Given the description of an element on the screen output the (x, y) to click on. 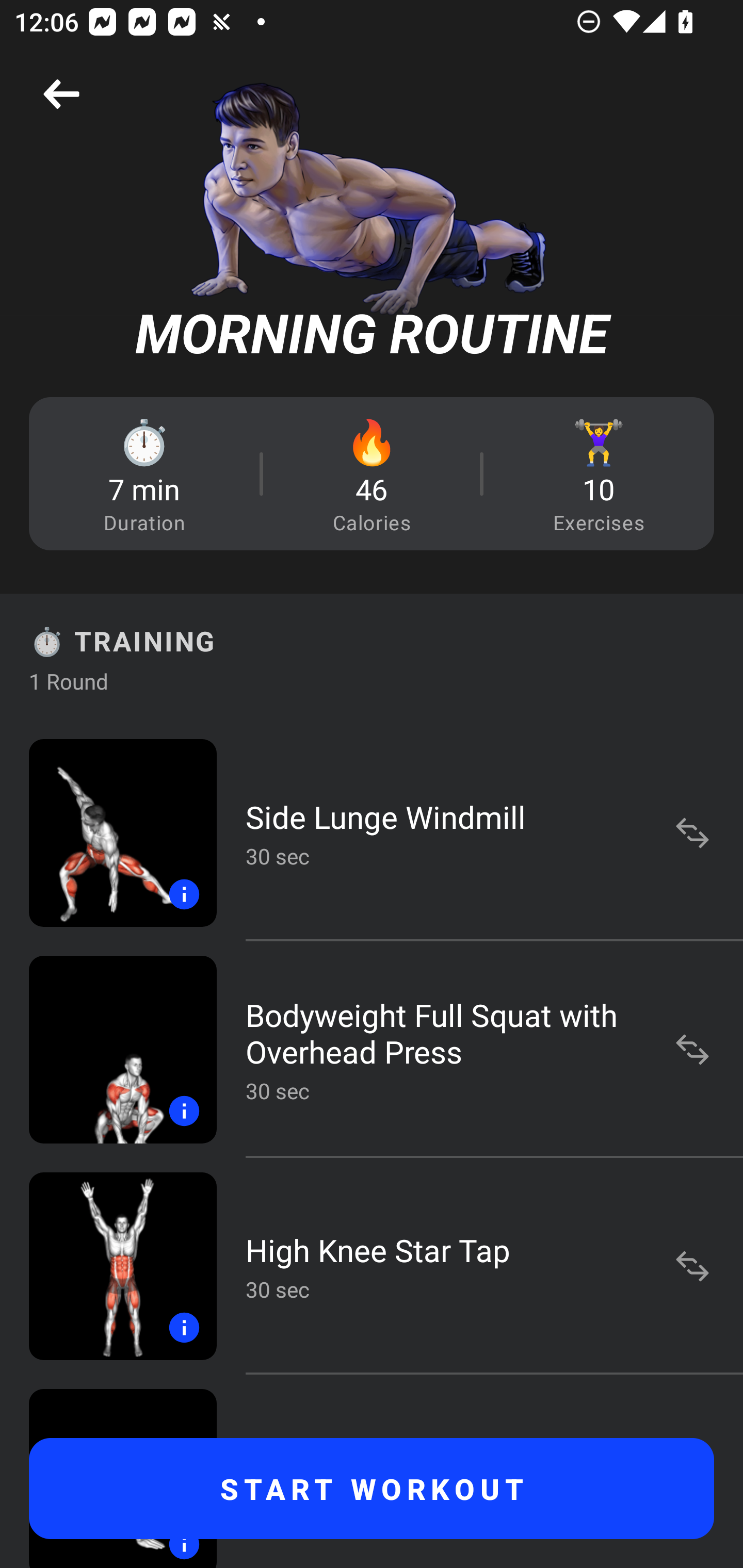
Side Lunge Windmill 30 sec (371, 832)
Bodyweight Full Squat with Overhead Press 30 sec (371, 1048)
High Knee Star Tap 30 sec (371, 1266)
START WORKOUT (371, 1488)
